Given the description of an element on the screen output the (x, y) to click on. 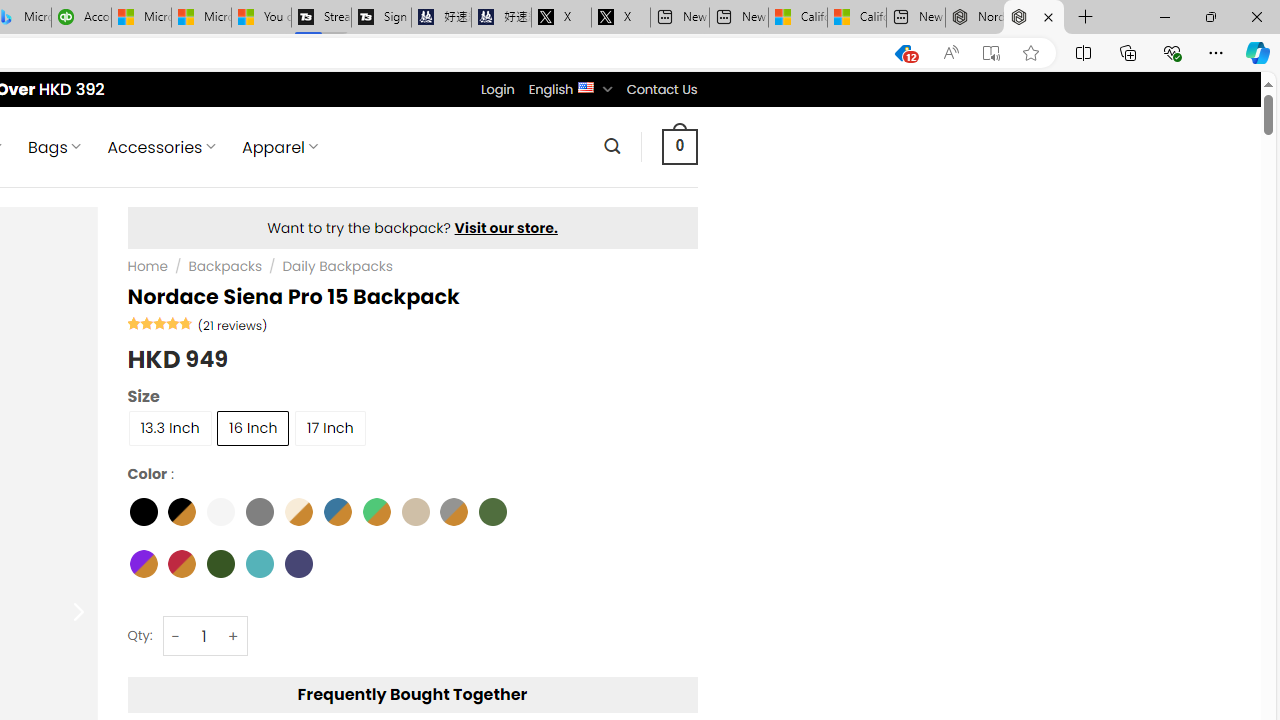
Nordace Siena Pro 15 Backpack quantity (204, 636)
English (586, 86)
Search (612, 146)
Daily Backpacks (336, 267)
+ (234, 636)
Microsoft Start (201, 17)
